Given the description of an element on the screen output the (x, y) to click on. 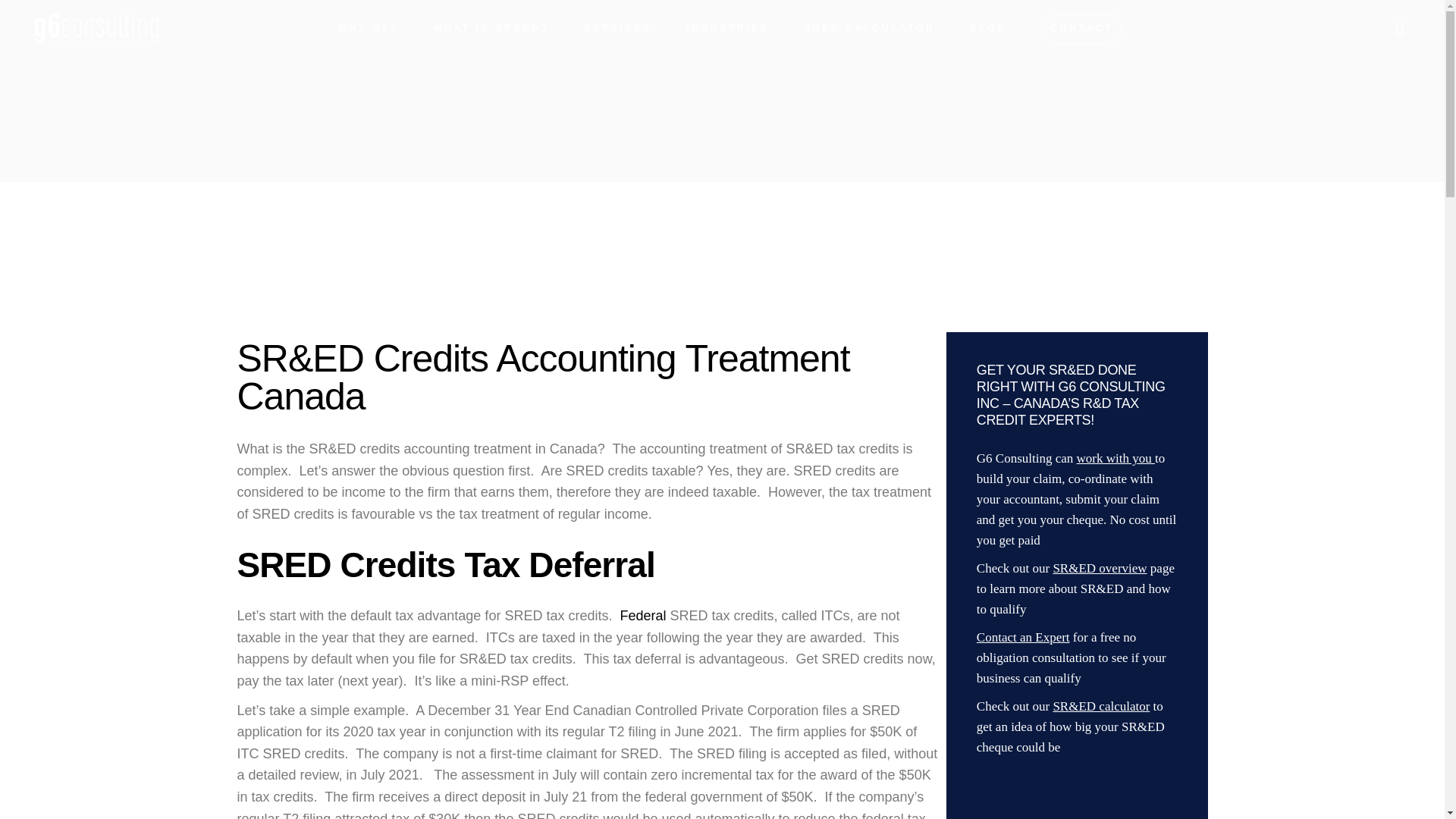
INDUSTRIES (728, 28)
CONTACT (1081, 29)
WHY G6? (367, 28)
SRED CALCULATOR (868, 28)
SERVICES (616, 28)
